Given the description of an element on the screen output the (x, y) to click on. 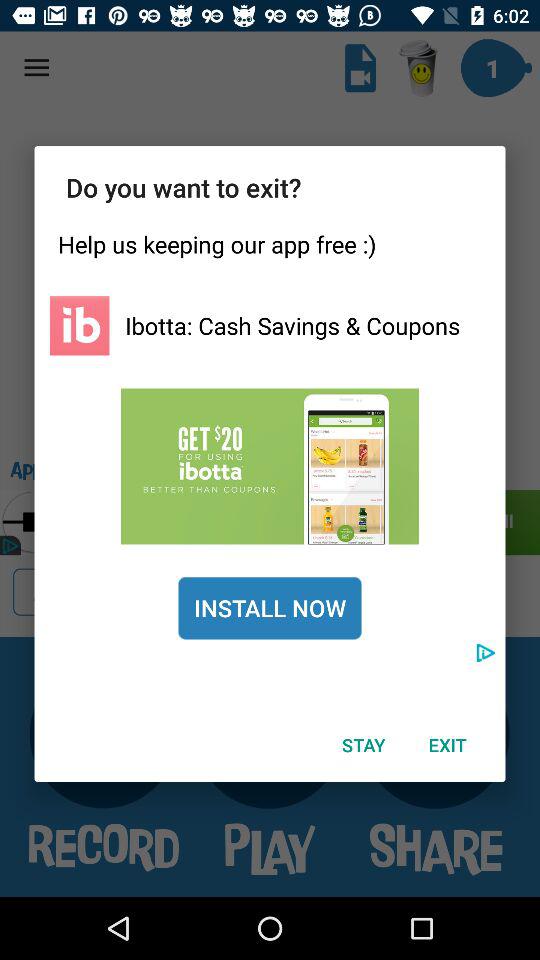
flip until install now item (269, 607)
